Given the description of an element on the screen output the (x, y) to click on. 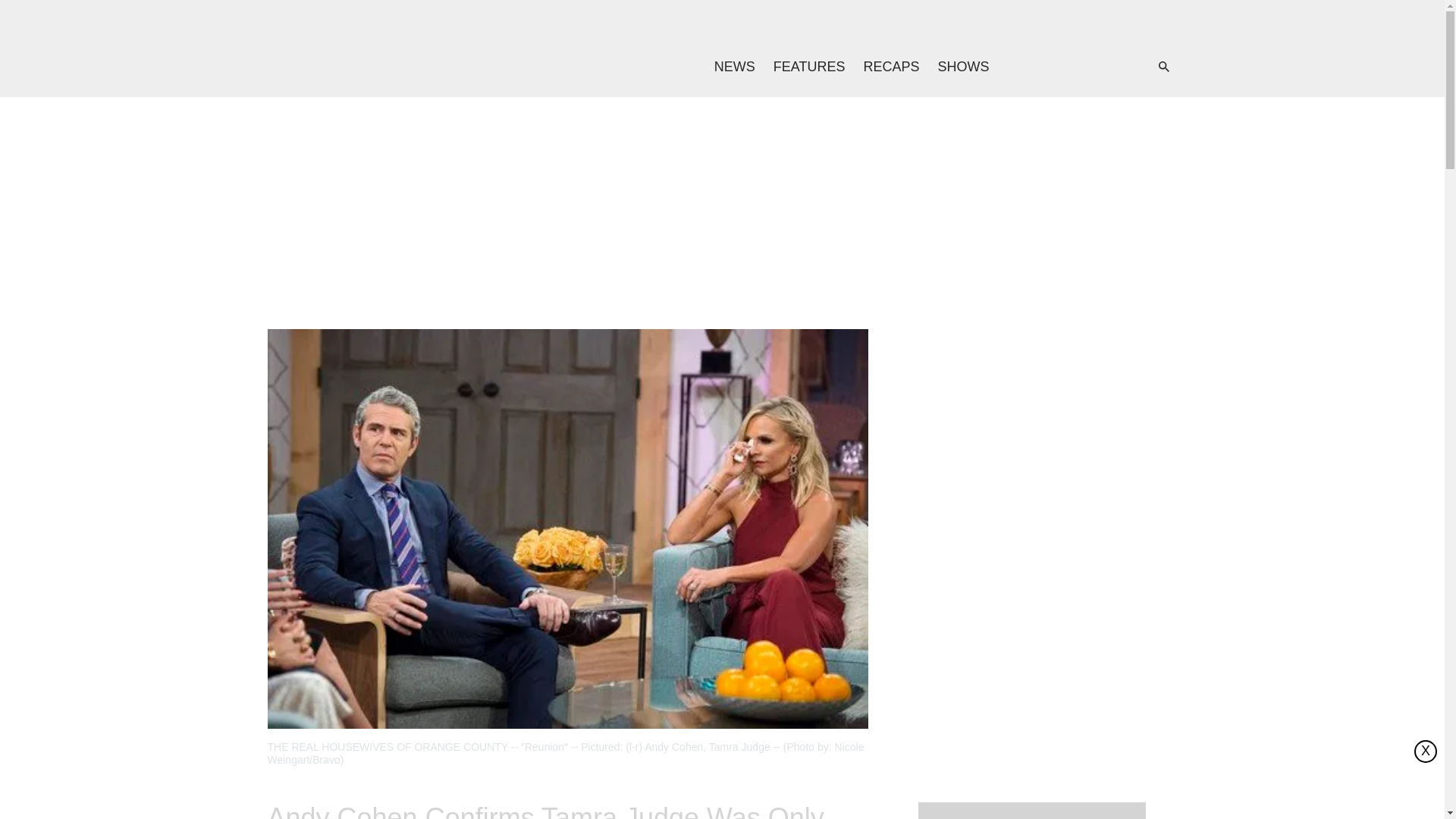
Facebook (1048, 66)
Twitter (1079, 66)
Pinterest (1109, 66)
SHOWS (962, 66)
RECAPS (890, 66)
FEATURES (809, 66)
NEWS (734, 66)
